Given the description of an element on the screen output the (x, y) to click on. 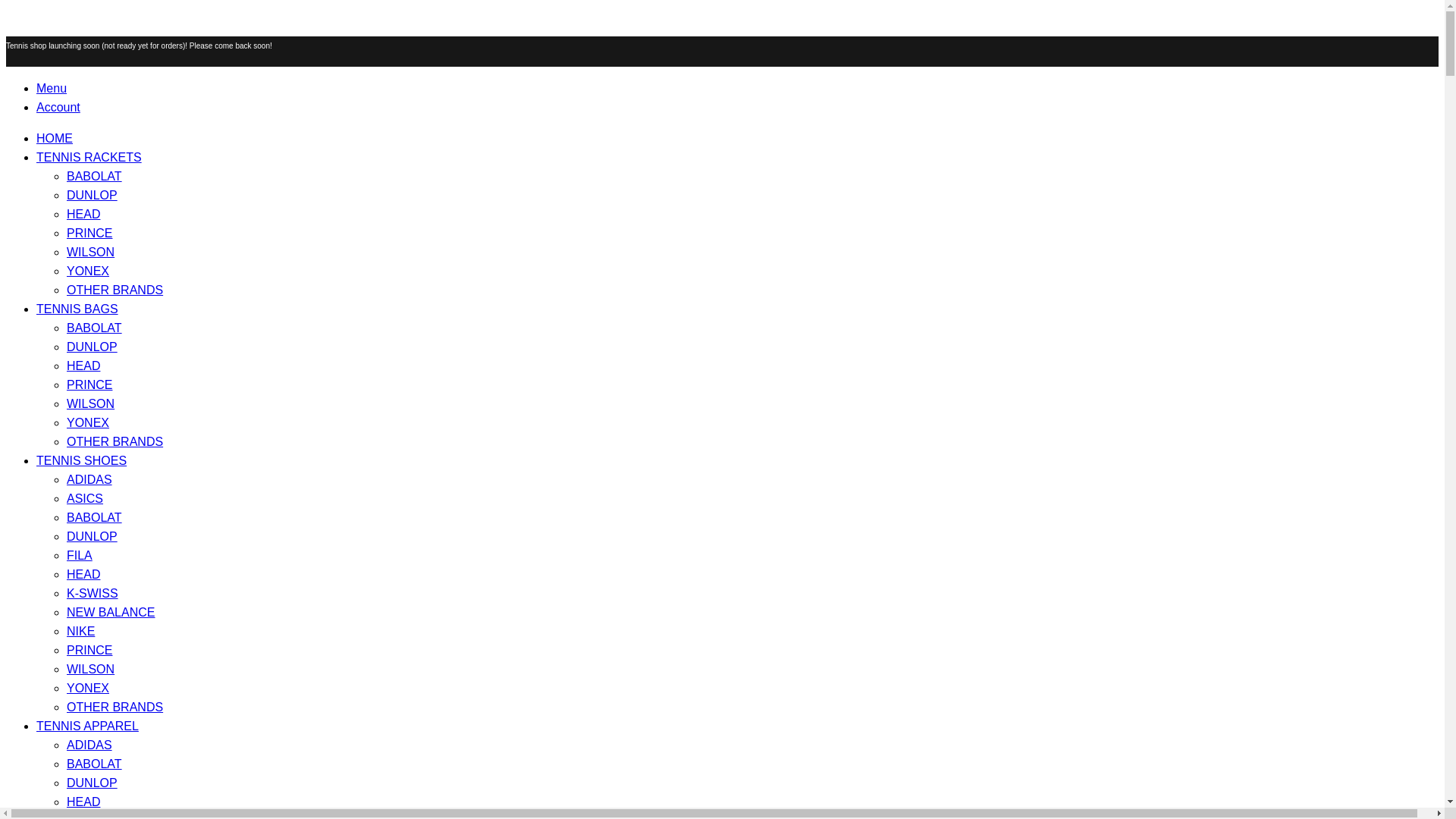
BABOLAT (94, 175)
DUNLOP (91, 535)
PRINCE (89, 649)
NEW BALANCE (110, 612)
TENNIS SHOES (81, 460)
Account (737, 107)
BABOLAT (94, 517)
OTHER BRANDS (114, 707)
NIKE (80, 631)
PRINCE (89, 232)
HEAD (83, 574)
TENNIS BAGS (76, 308)
PRINCE (89, 384)
Menu (737, 87)
OTHER BRANDS (114, 289)
